Given the description of an element on the screen output the (x, y) to click on. 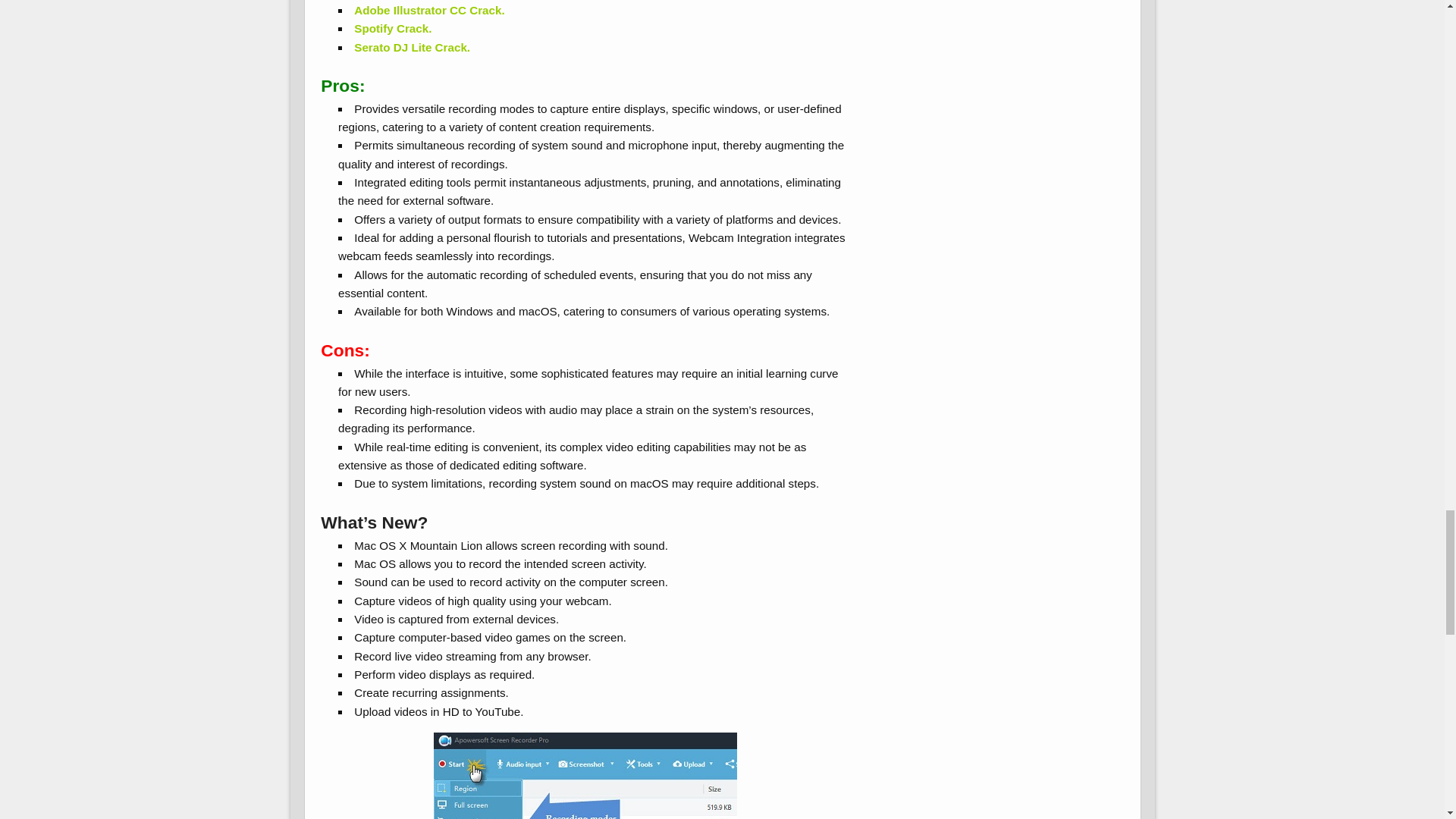
Serato DJ Lite Crack. (411, 47)
Adobe Illustrator CC Crack. (428, 10)
Spotify Crack. (391, 28)
